Given the description of an element on the screen output the (x, y) to click on. 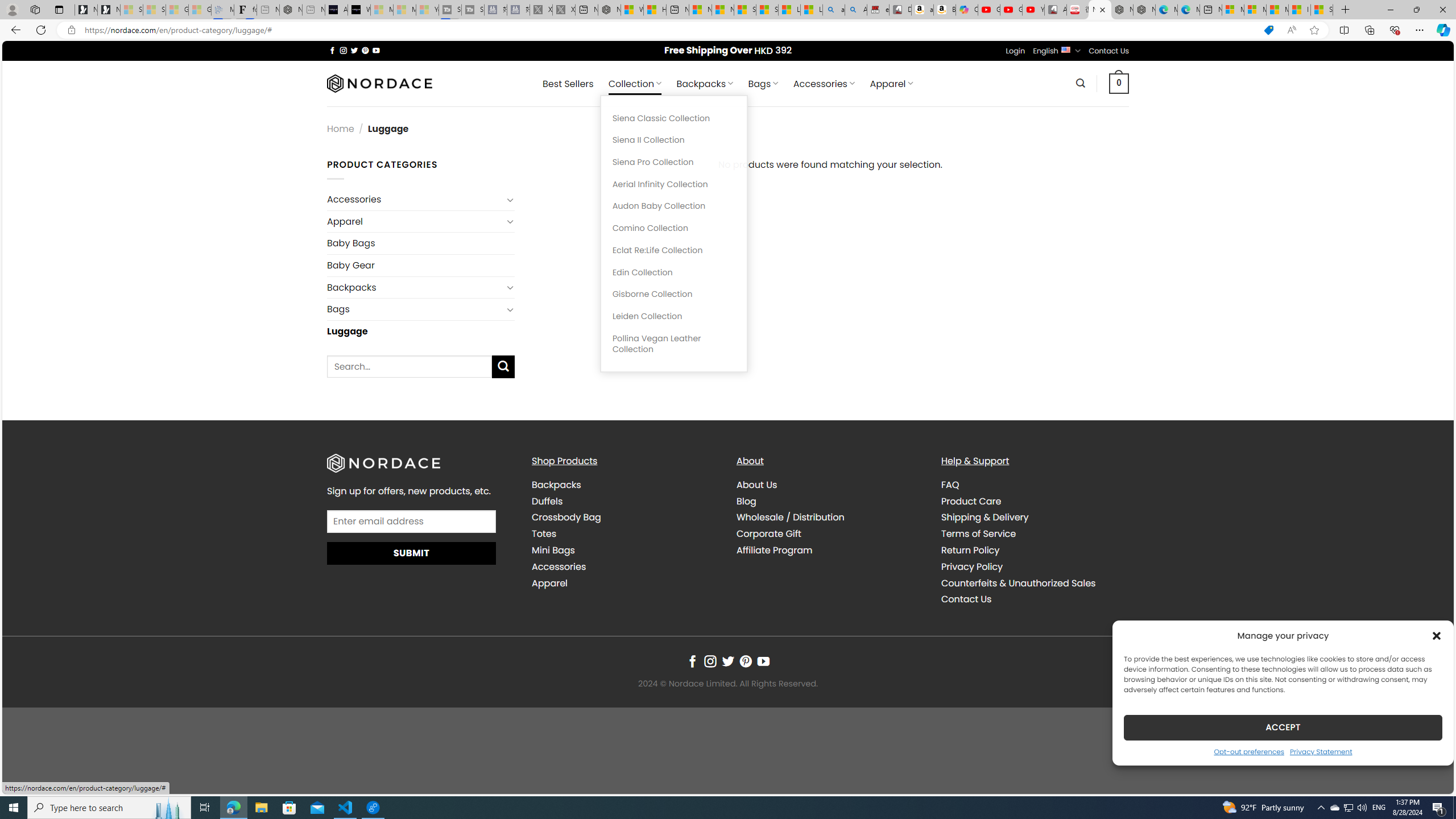
Close tab (1102, 9)
Baby Gear (421, 264)
Class: cmplz-close (1436, 635)
Personal Profile (12, 9)
Audon Baby Collection (672, 205)
Follow on Twitter (727, 661)
Split screen (1344, 29)
Nordace - Nordace has arrived Hong Kong (1144, 9)
Address and search bar (669, 29)
Siena Classic Collection (672, 118)
Back (13, 29)
